Given the description of an element on the screen output the (x, y) to click on. 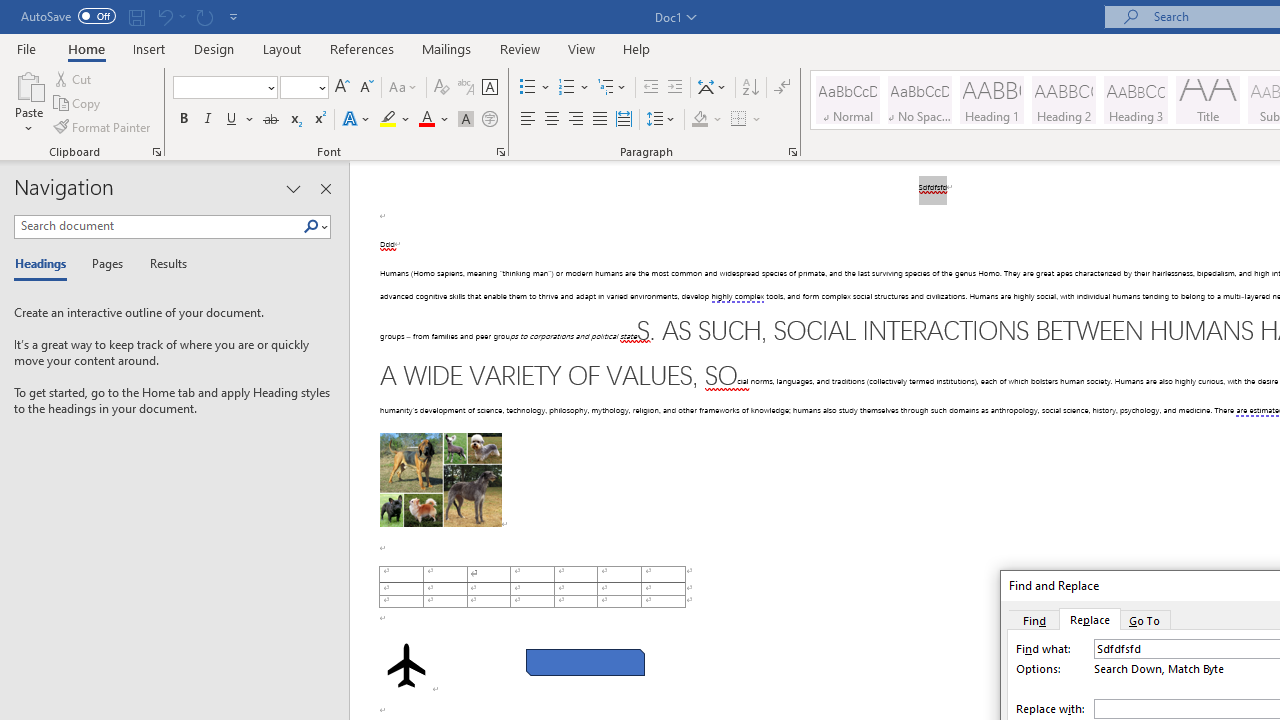
Cut (73, 78)
Bold (183, 119)
Home (86, 48)
Find (1034, 619)
Customize Quick Access Toolbar (234, 15)
Go To (1145, 619)
